Given the description of an element on the screen output the (x, y) to click on. 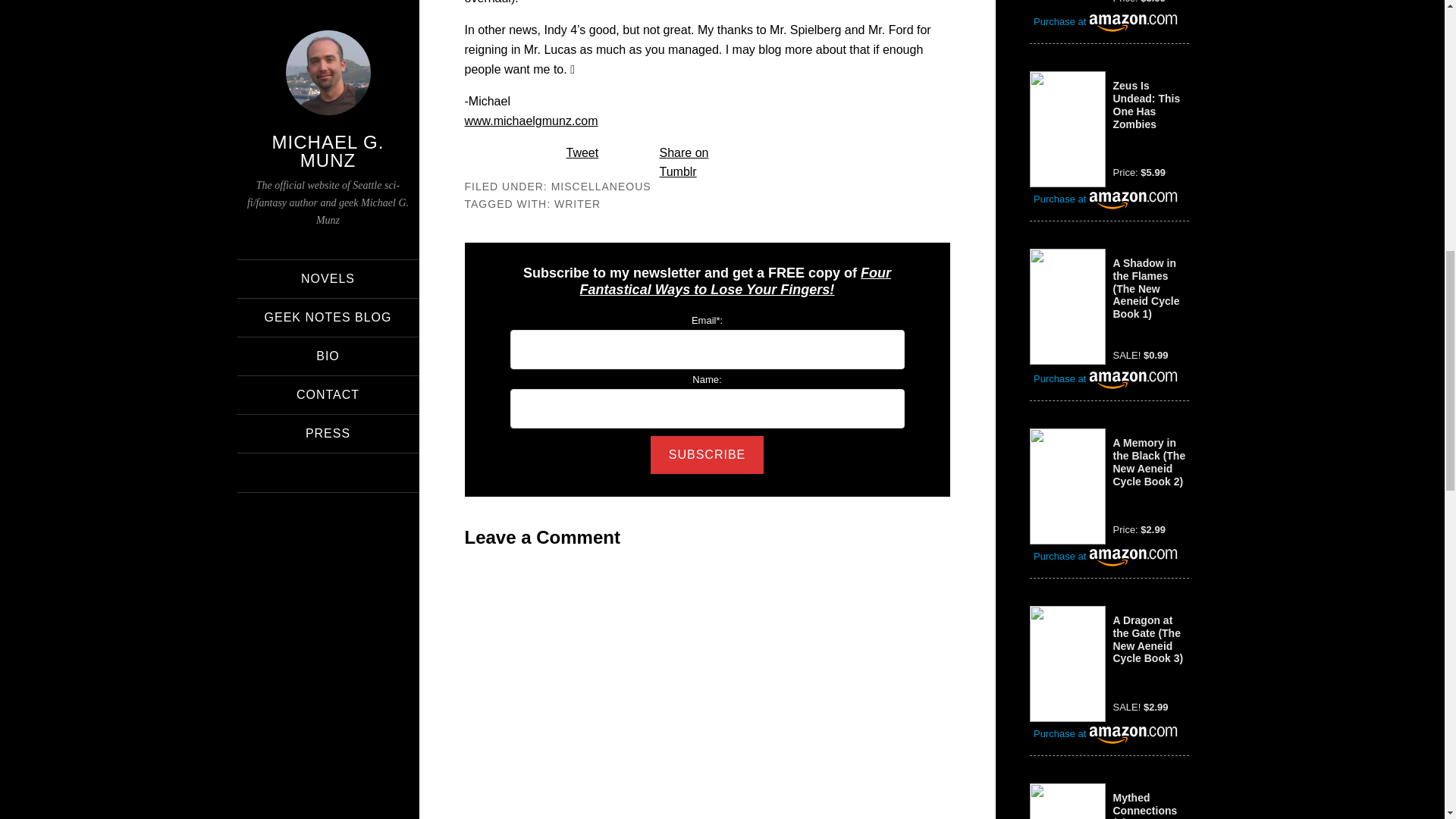
SUBSCRIBE (706, 454)
Four Fantastical Ways to Lose Your Fingers! (735, 281)
WRITER (576, 203)
Tweet (582, 152)
www.michaelgmunz.com (530, 120)
MISCELLANEOUS (600, 186)
Share on Tumblr (684, 162)
